Given the description of an element on the screen output the (x, y) to click on. 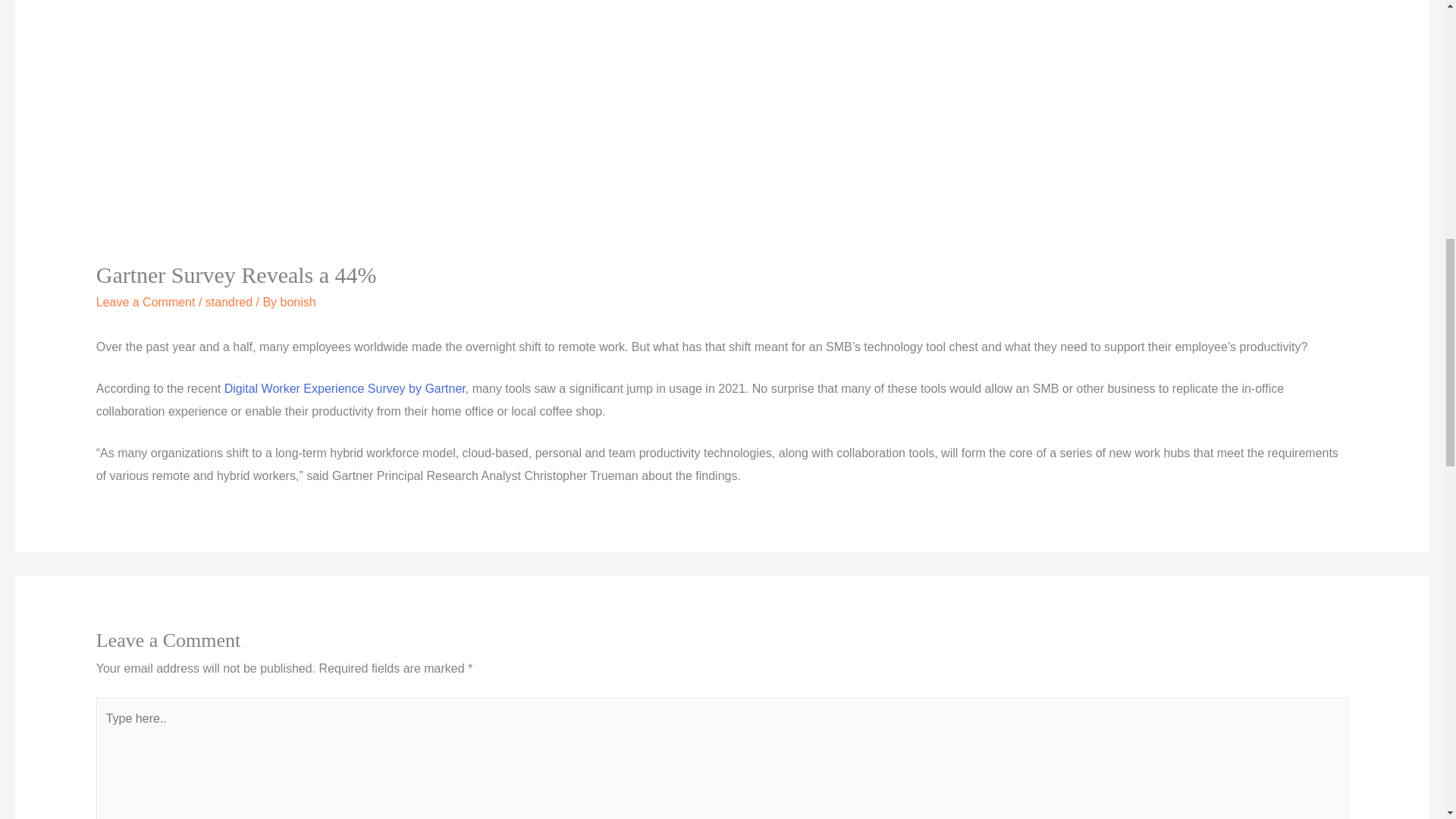
bonish (298, 301)
standred (228, 301)
View all posts by bonish (298, 301)
Digital Worker Experience Survey by Gartner (344, 388)
Leave a Comment (145, 301)
